Given the description of an element on the screen output the (x, y) to click on. 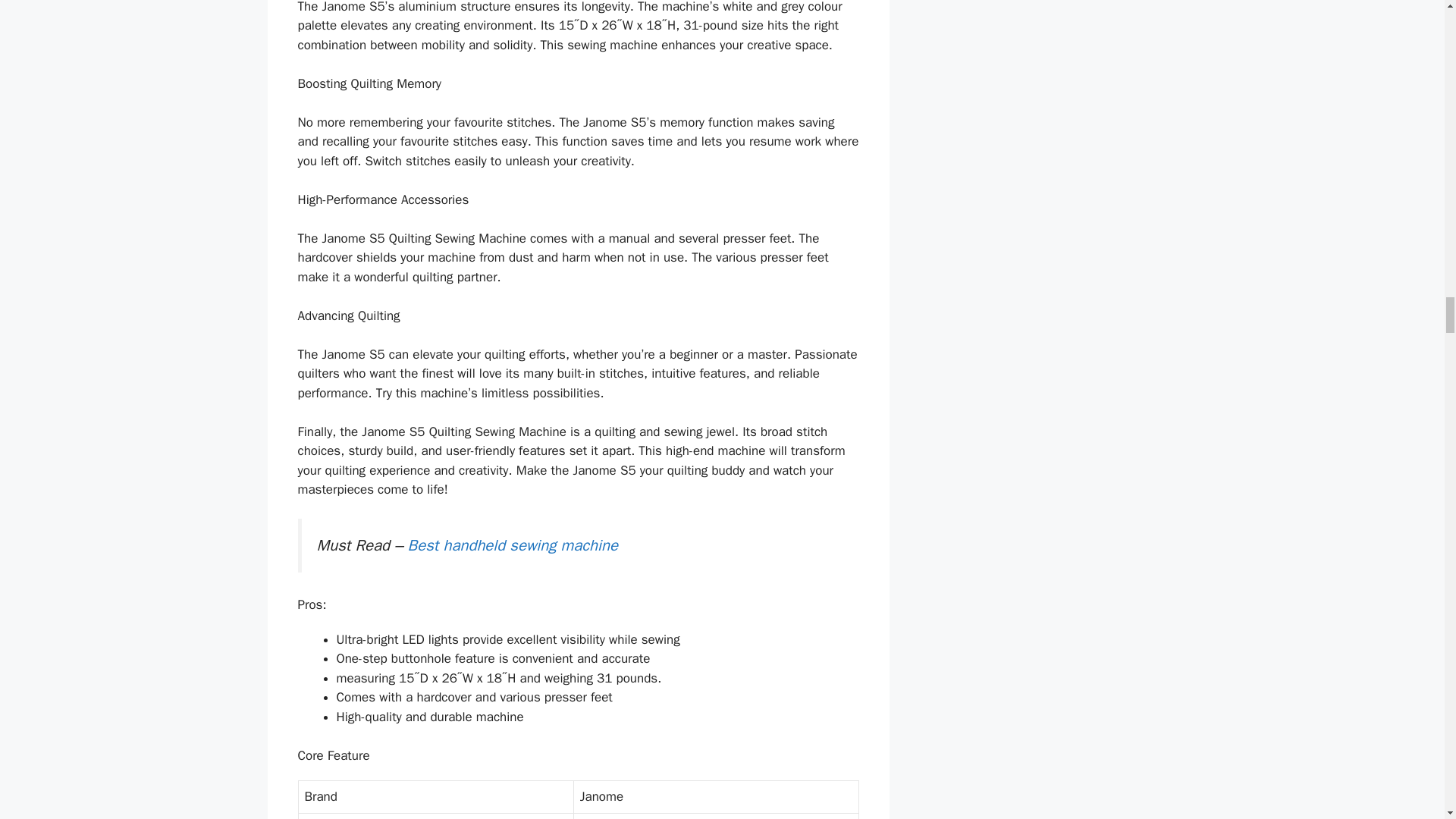
Best handheld sewing machine (512, 545)
